Given the description of an element on the screen output the (x, y) to click on. 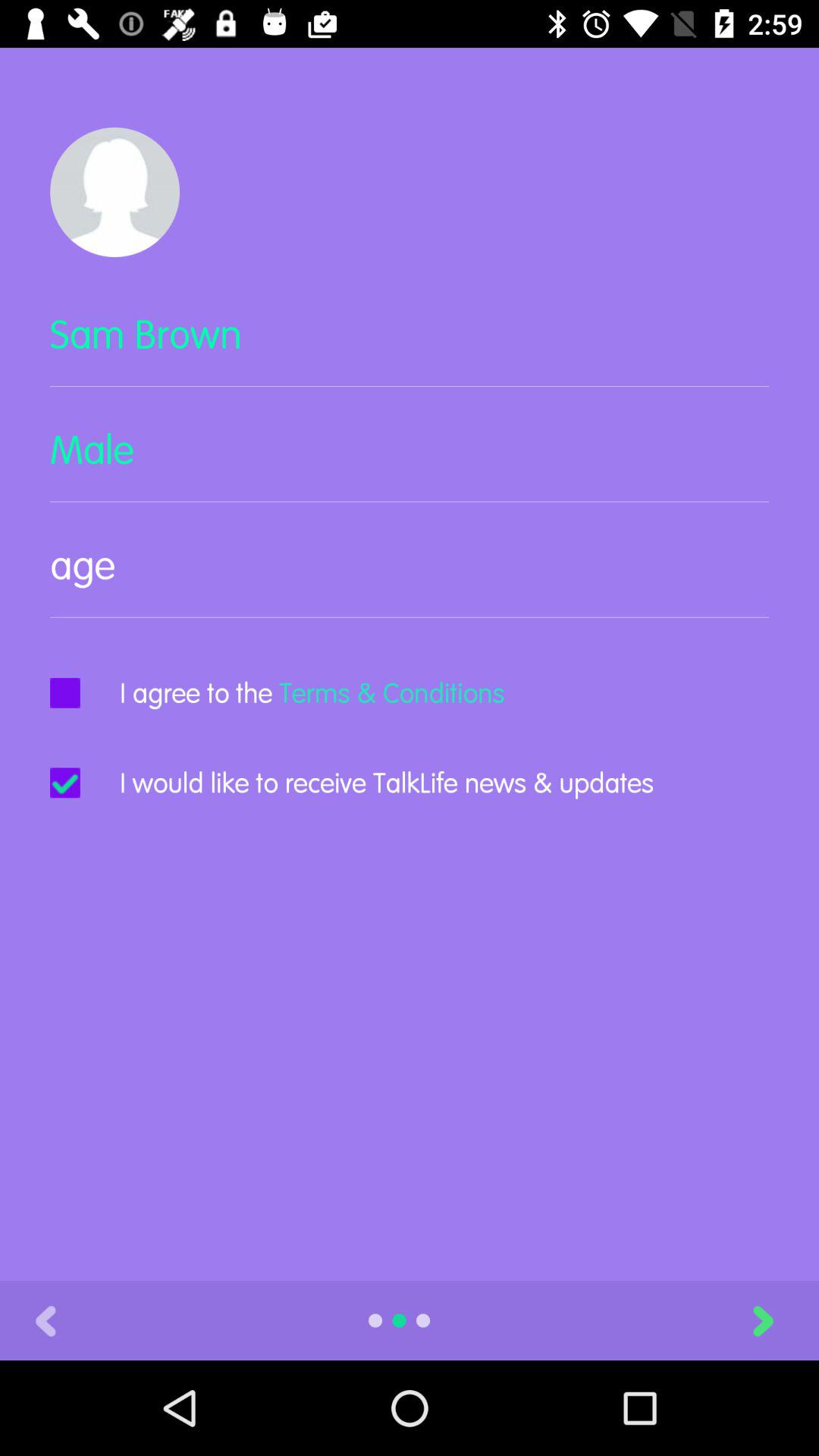
flip to sam brown icon (409, 346)
